Given the description of an element on the screen output the (x, y) to click on. 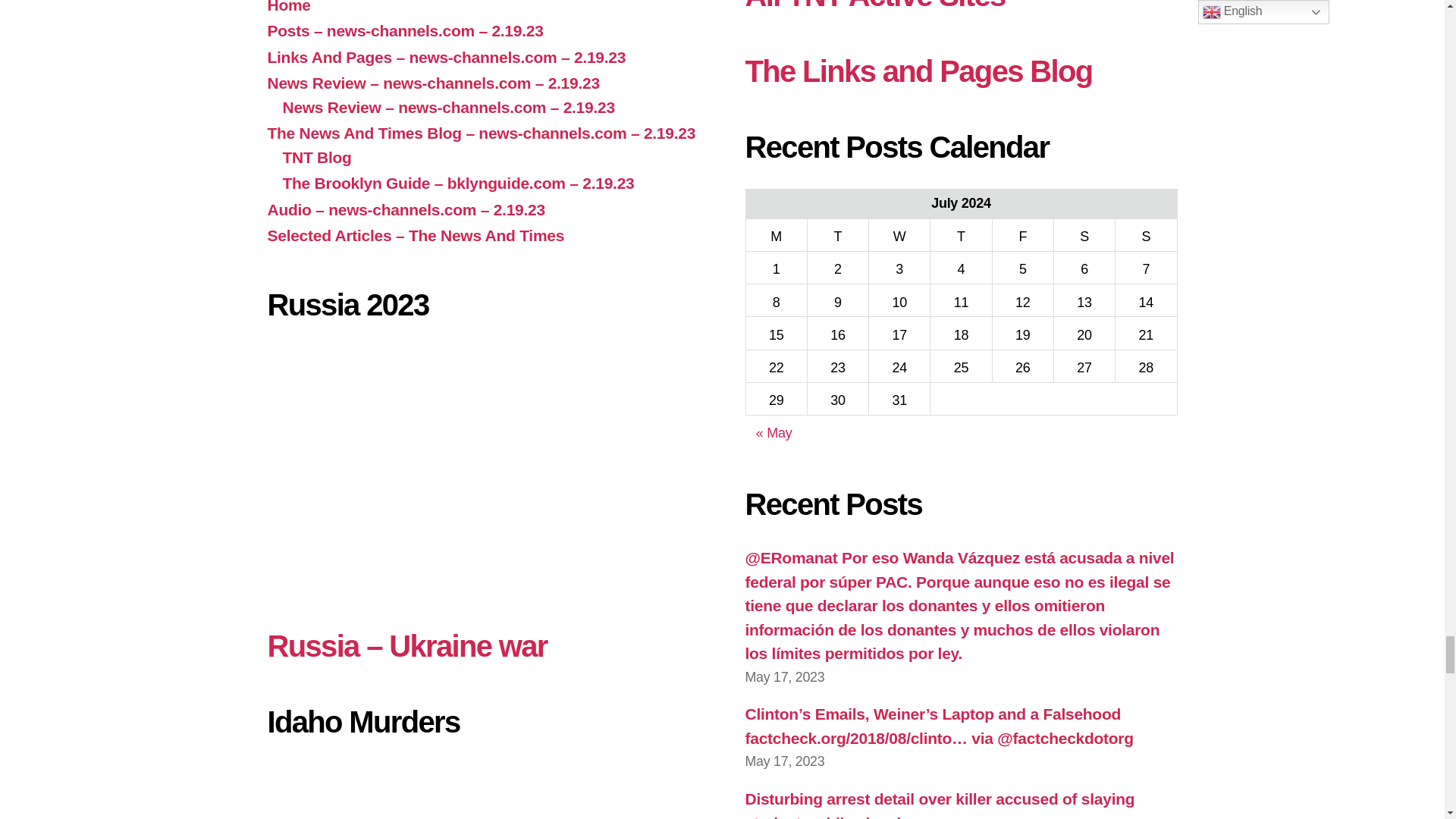
YouTube video player (482, 791)
YouTube video player (482, 467)
